Given the description of an element on the screen output the (x, y) to click on. 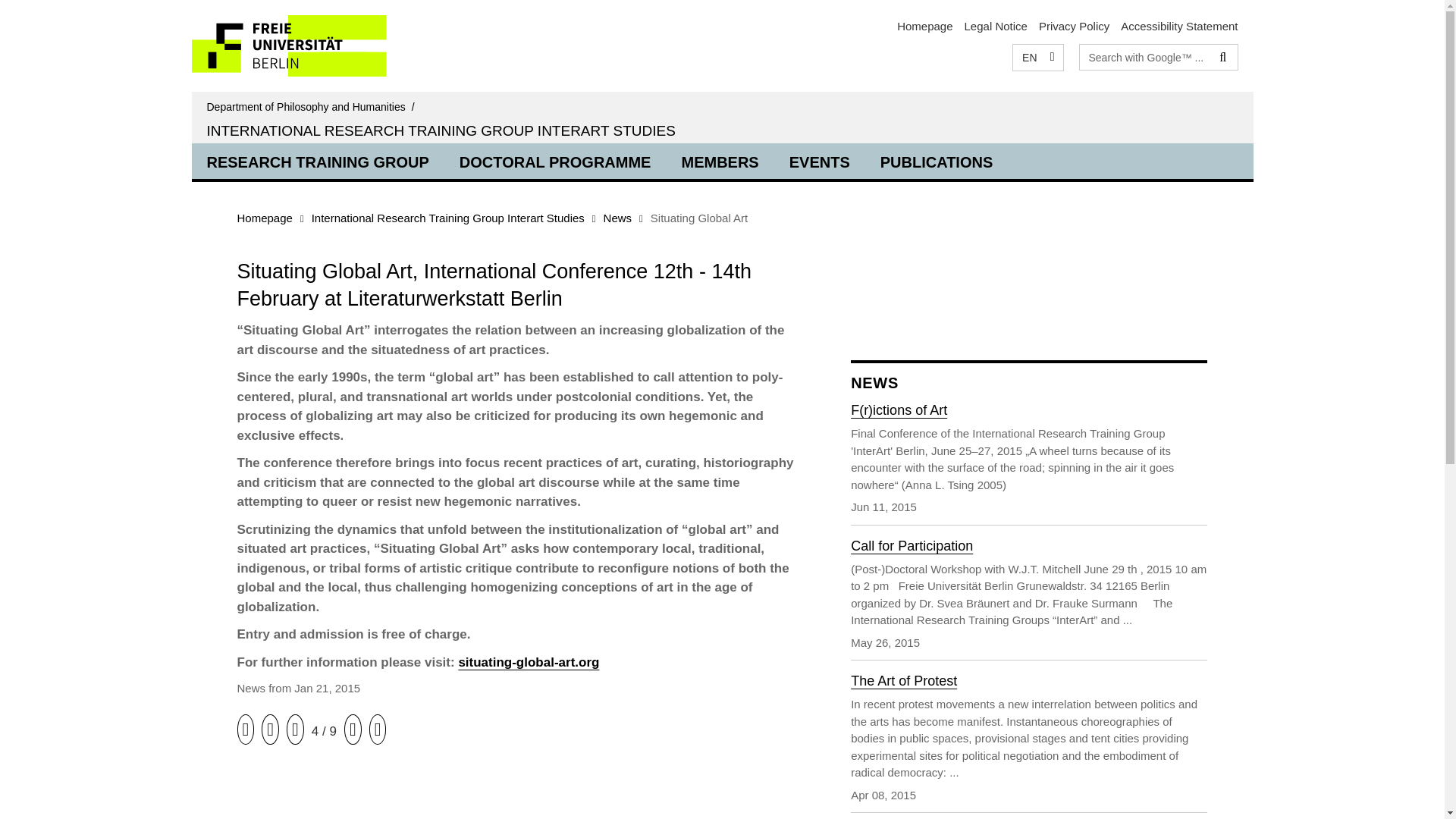
Please enter search term here (1144, 56)
Legal Notice (995, 25)
To the Homepage of: Department of Philosophy and Humanities (924, 25)
DOCTORAL PROGRAMME (555, 160)
EVENTS (819, 160)
INTERNATIONAL RESEARCH TRAINING GROUP INTERART STUDIES (440, 130)
RESEARCH TRAINING GROUP (317, 160)
Accessibility Statement (1179, 25)
MEMBERS (719, 160)
